Given the description of an element on the screen output the (x, y) to click on. 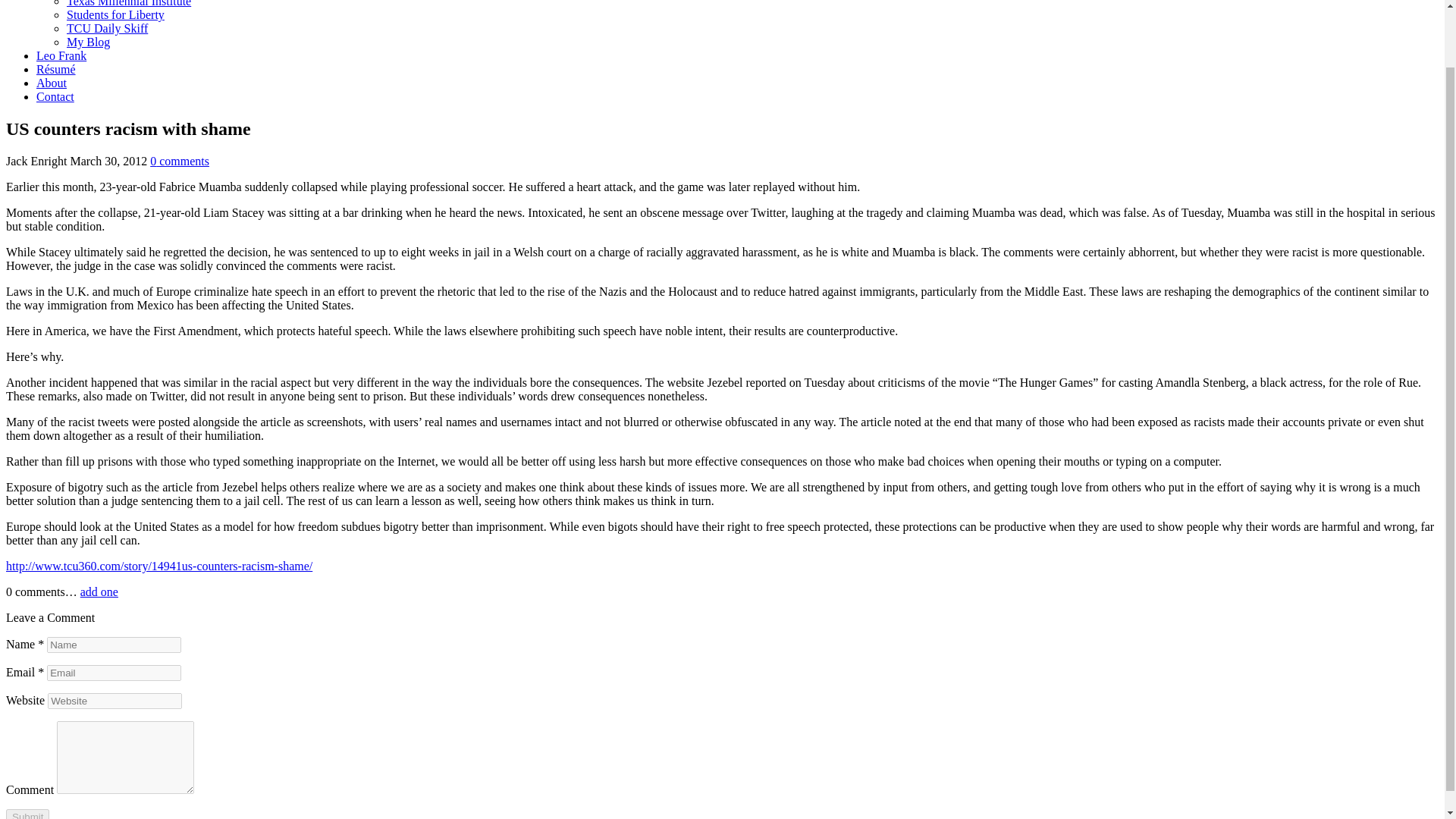
Required (40, 671)
Students for Liberty (115, 14)
Texas Millennial Institute (128, 3)
0 comments (179, 160)
add one (98, 591)
About (51, 82)
TCU Daily Skiff (107, 28)
2012-03-30 (108, 160)
Required (40, 644)
My Blog (88, 42)
Contact (55, 96)
Leo Frank (60, 55)
